Given the description of an element on the screen output the (x, y) to click on. 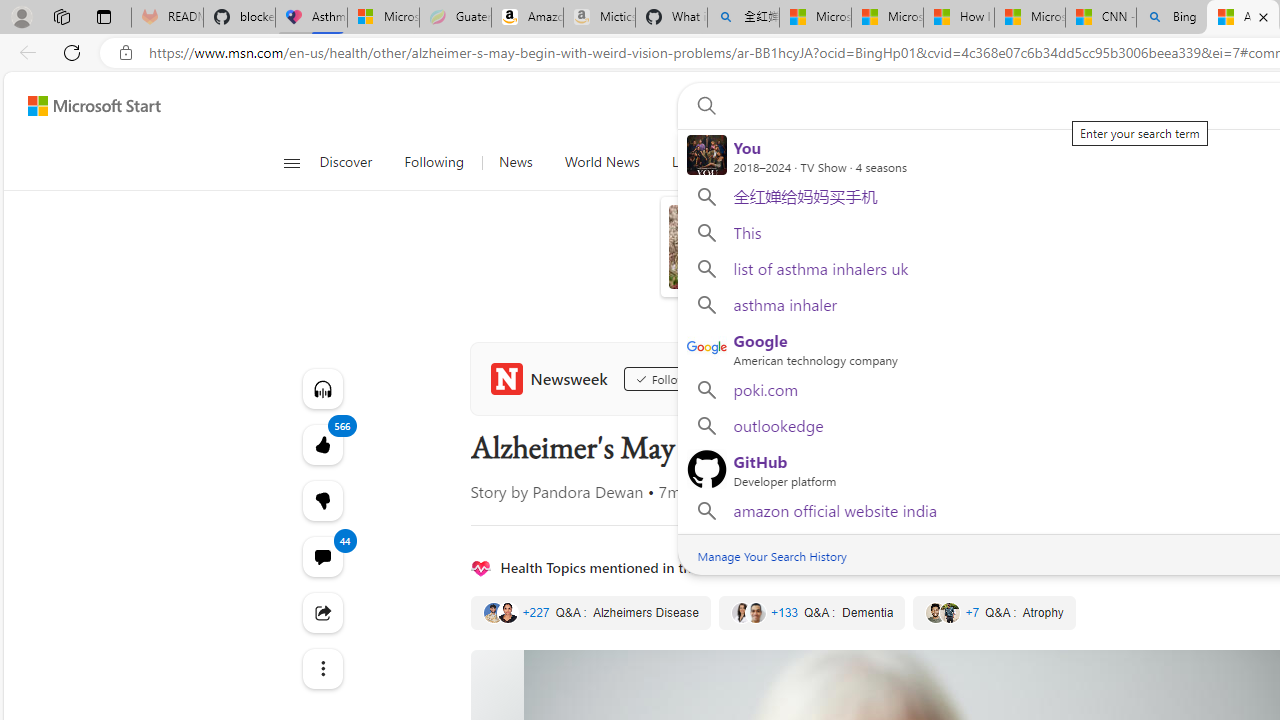
Entertainment (1103, 162)
Newsweek (552, 378)
View comments 44 Comment (322, 556)
World News (602, 162)
